Given the description of an element on the screen output the (x, y) to click on. 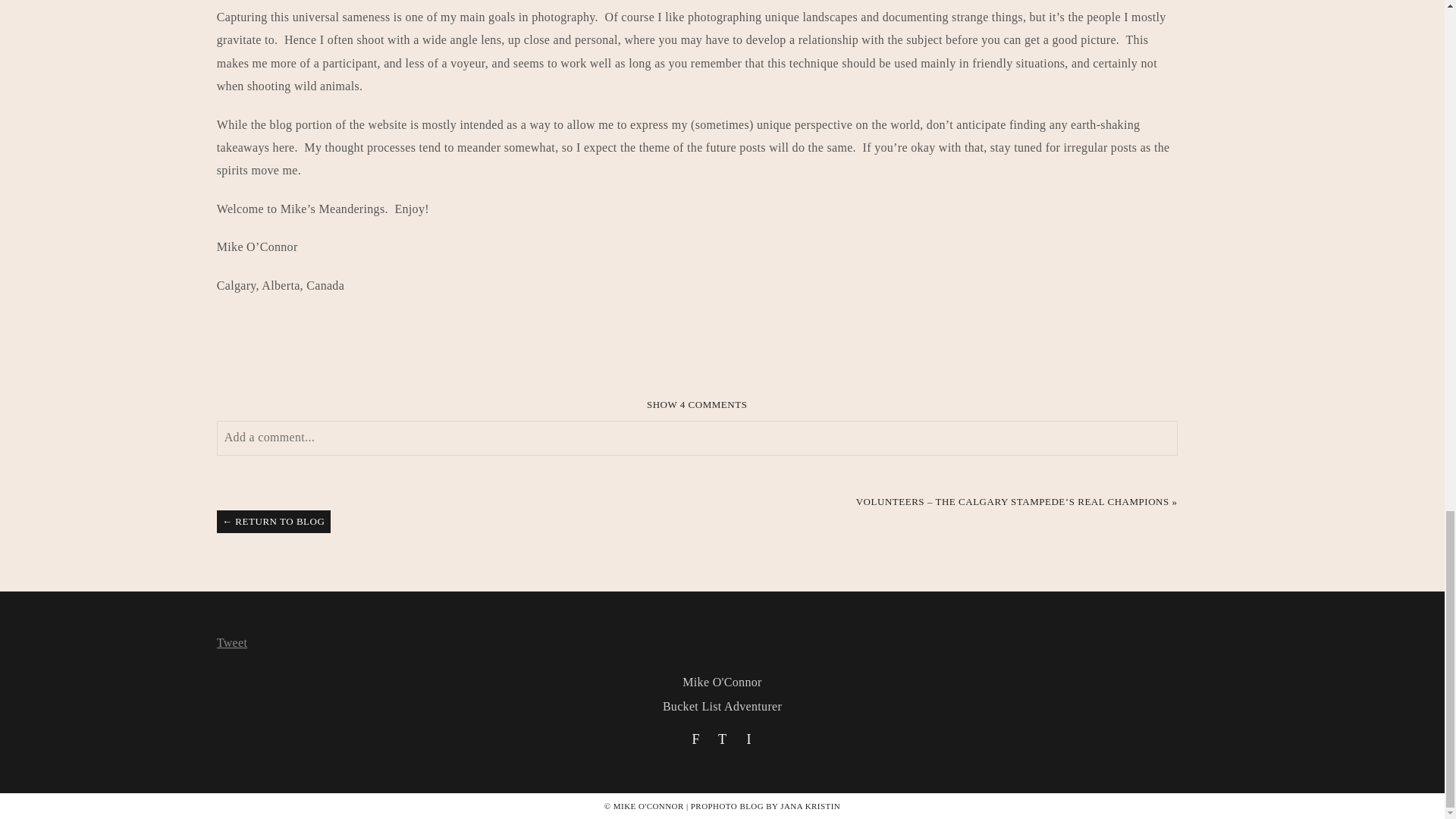
T (722, 739)
Tweet (231, 642)
I (748, 739)
SHOW 4 COMMENTS (697, 404)
F (695, 739)
